Given the description of an element on the screen output the (x, y) to click on. 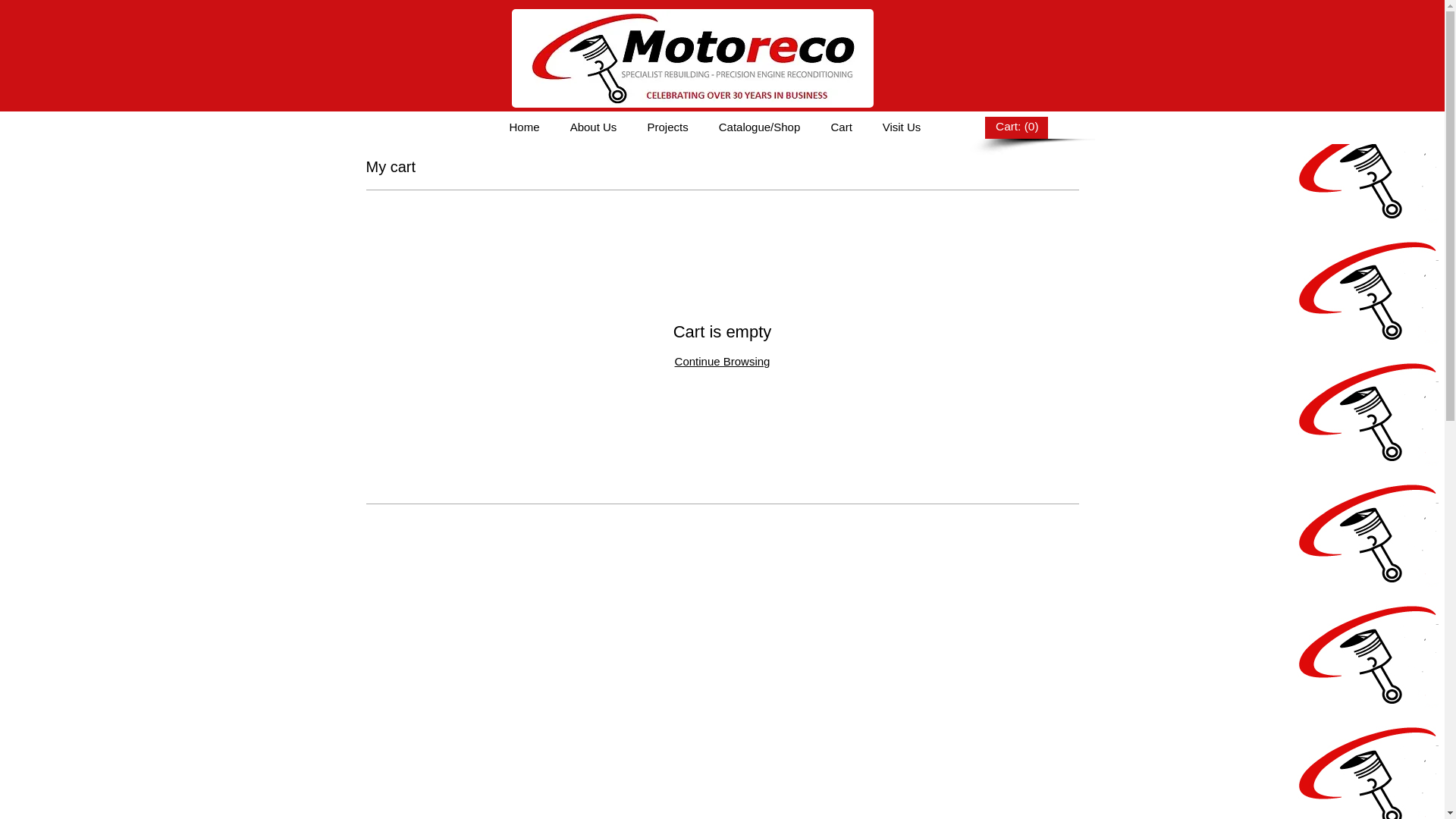
Cart: (0) Element type: text (1015, 126)
Visit Us Element type: text (901, 126)
Cart Element type: text (841, 126)
Continue Browsing Element type: text (722, 360)
NEW LOGO.jpg Element type: hover (691, 58)
Catalogue/Shop Element type: text (759, 126)
Home Element type: text (524, 126)
Projects Element type: text (667, 126)
About Us Element type: text (593, 126)
